Given the description of an element on the screen output the (x, y) to click on. 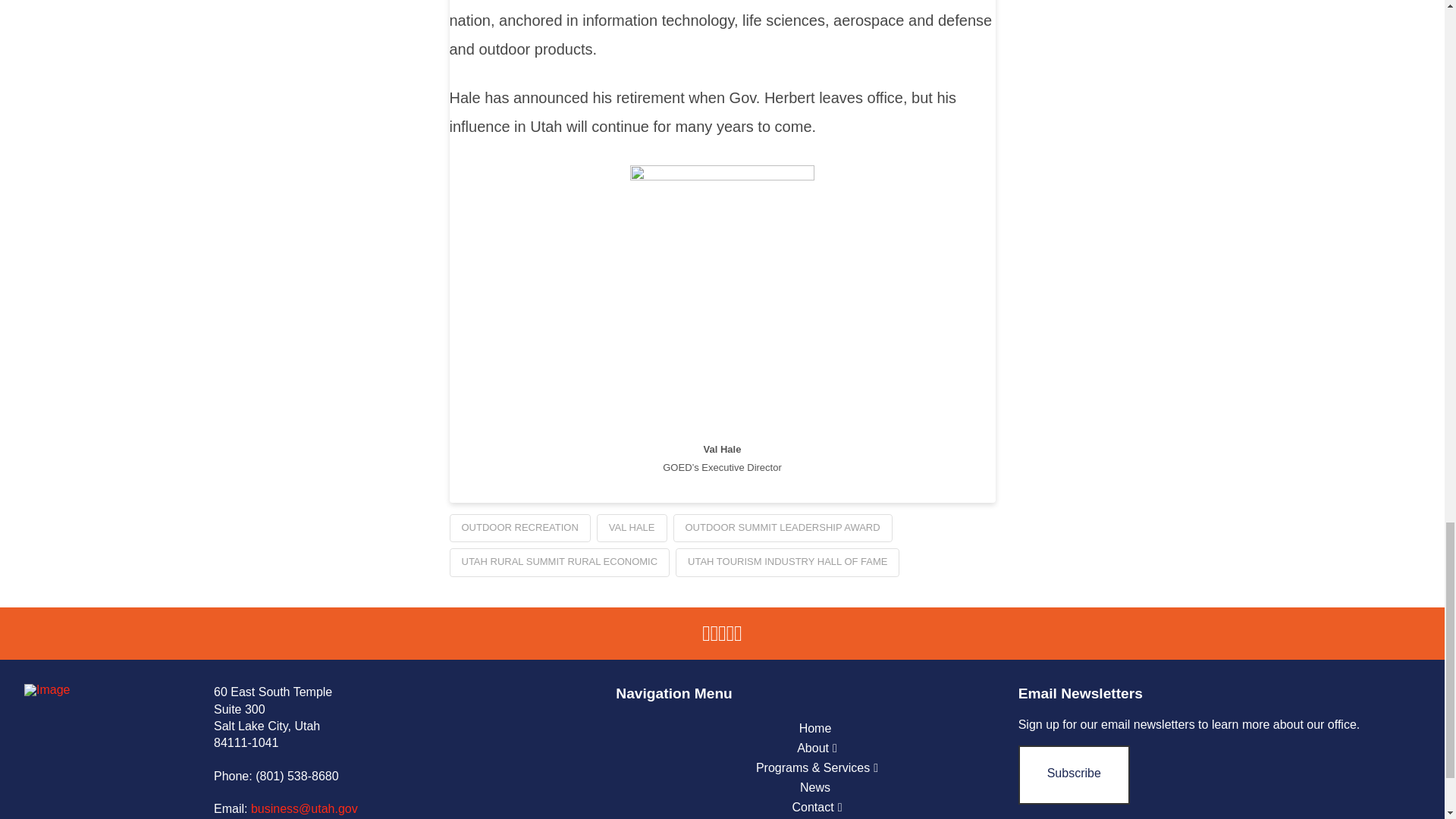
OUTDOOR RECREATION (518, 528)
UTAH TOURISM INDUSTRY HALL OF FAME (787, 562)
VAL HALE (631, 528)
OUTDOOR SUMMIT LEADERSHIP AWARD (782, 528)
UTAH RURAL SUMMIT RURAL ECONOMIC (558, 562)
Home (816, 728)
About (816, 748)
